Given the description of an element on the screen output the (x, y) to click on. 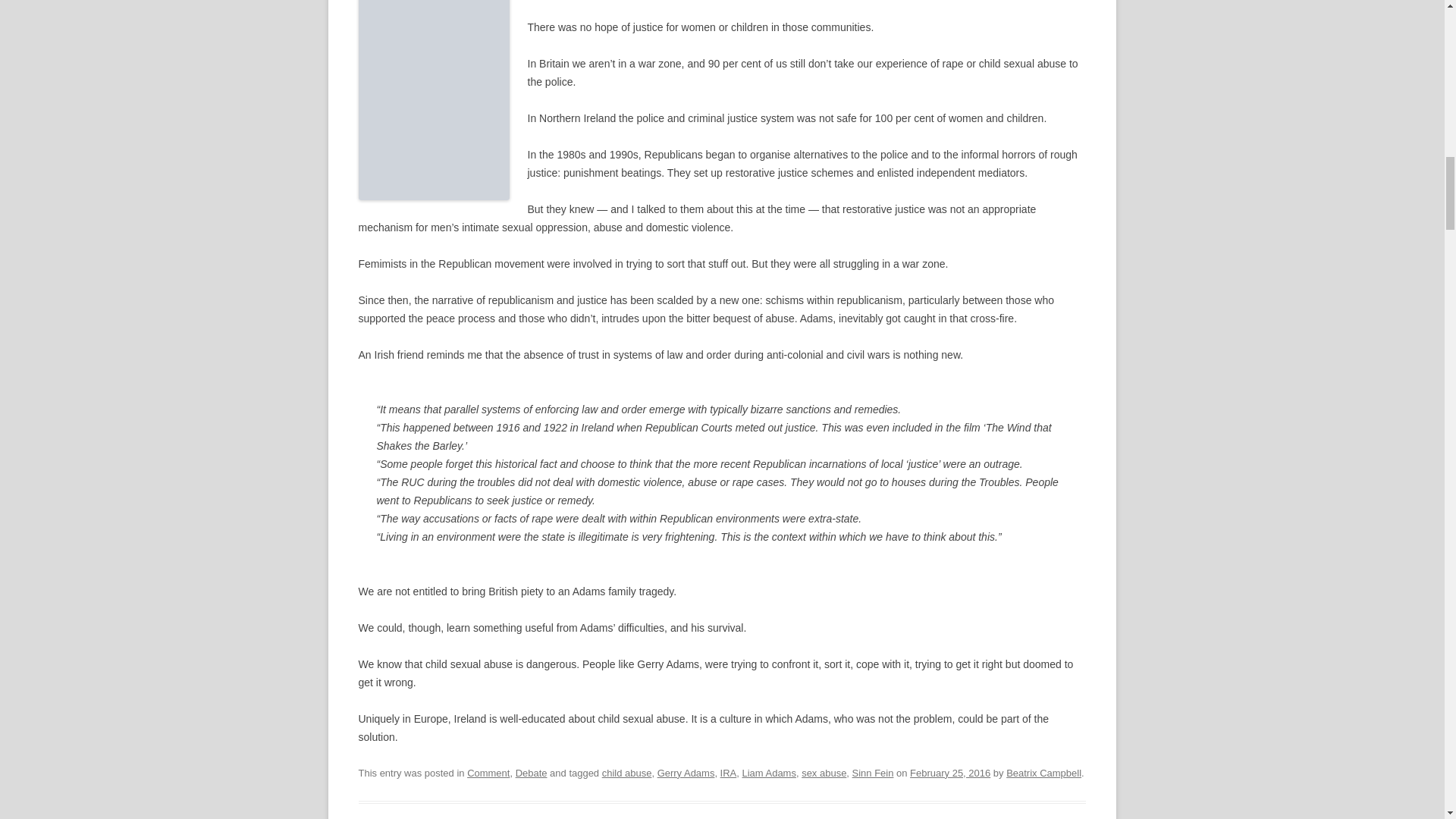
Comment (488, 772)
child abuse (627, 772)
Debate (531, 772)
Gerry Adams (686, 772)
View all posts by Beatrix Campbell (1043, 772)
3:39 pm (950, 772)
IRA (728, 772)
